Given the description of an element on the screen output the (x, y) to click on. 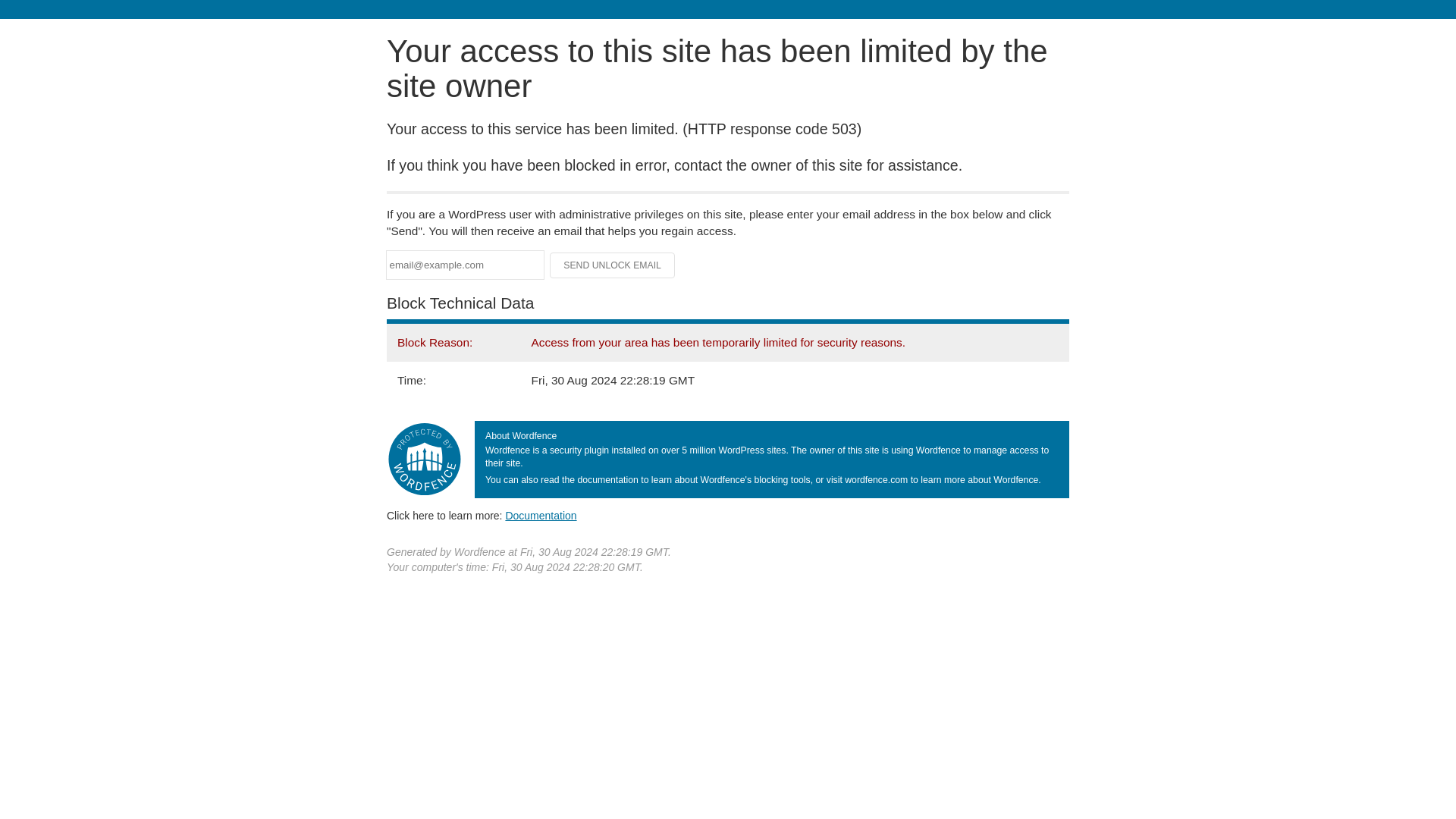
Documentation (540, 515)
Send Unlock Email (612, 265)
Send Unlock Email (612, 265)
